Given the description of an element on the screen output the (x, y) to click on. 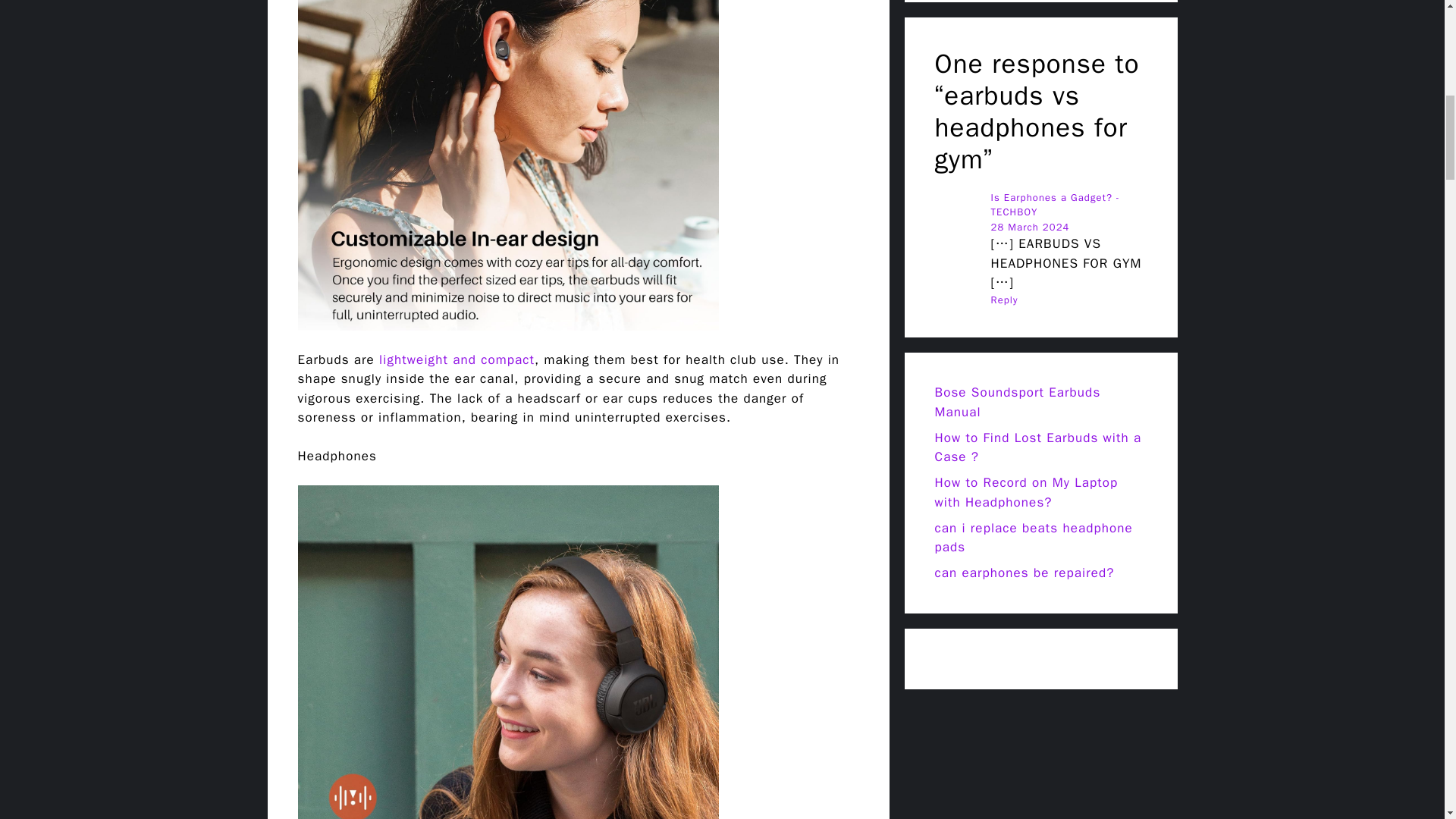
lightweight and compact (454, 359)
